Given the description of an element on the screen output the (x, y) to click on. 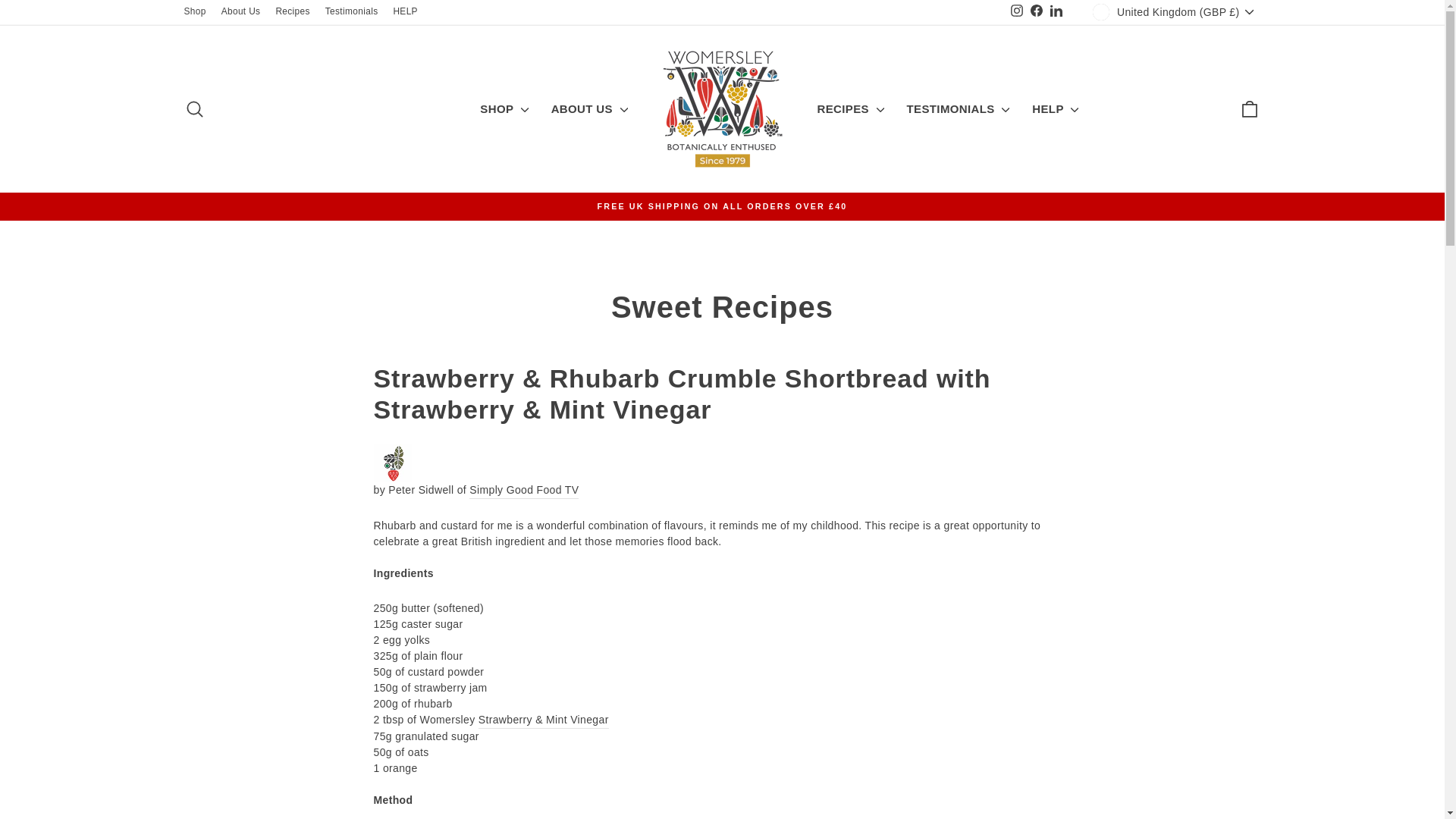
ICON-SEARCH (194, 108)
Womersley Foods on Facebook (1036, 11)
Womersley Foods on LinkedIn (1055, 11)
Simply Good Food TV app (523, 490)
Womersley Foods on Instagram (1016, 11)
ICON-BAG-MINIMAL (1249, 108)
instagram (1016, 10)
